Given the description of an element on the screen output the (x, y) to click on. 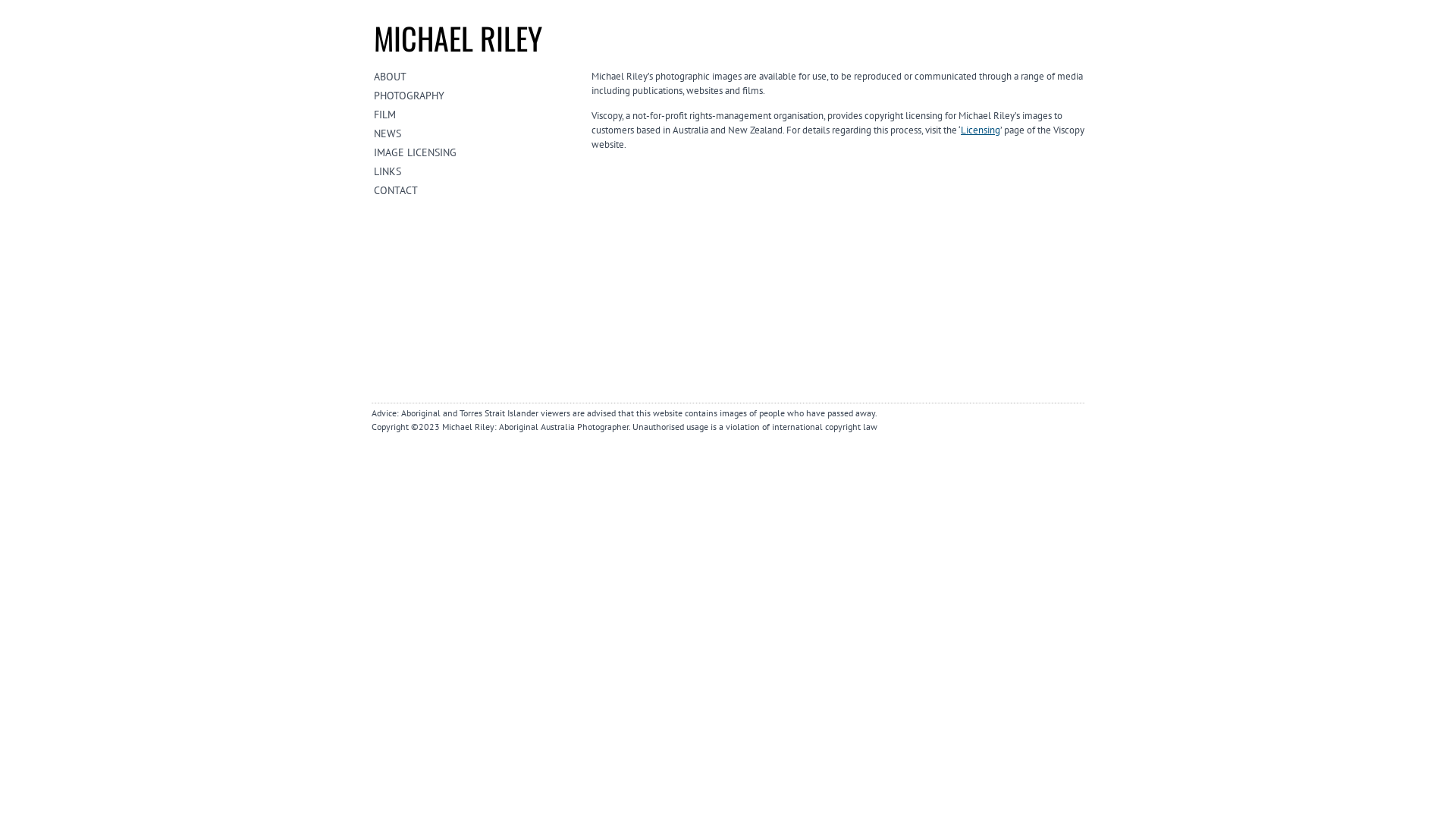
FILM Element type: text (475, 114)
MICHAEL RILEY Element type: text (457, 37)
ABOUT Element type: text (475, 76)
CONTACT Element type: text (475, 190)
PHOTOGRAPHY Element type: text (475, 95)
IMAGE LICENSING Element type: text (475, 152)
Licensing Element type: text (980, 129)
LINKS Element type: text (475, 171)
Michael Riley: Aboriginal Australia Photographer. Element type: text (536, 426)
NEWS Element type: text (475, 133)
